Given the description of an element on the screen output the (x, y) to click on. 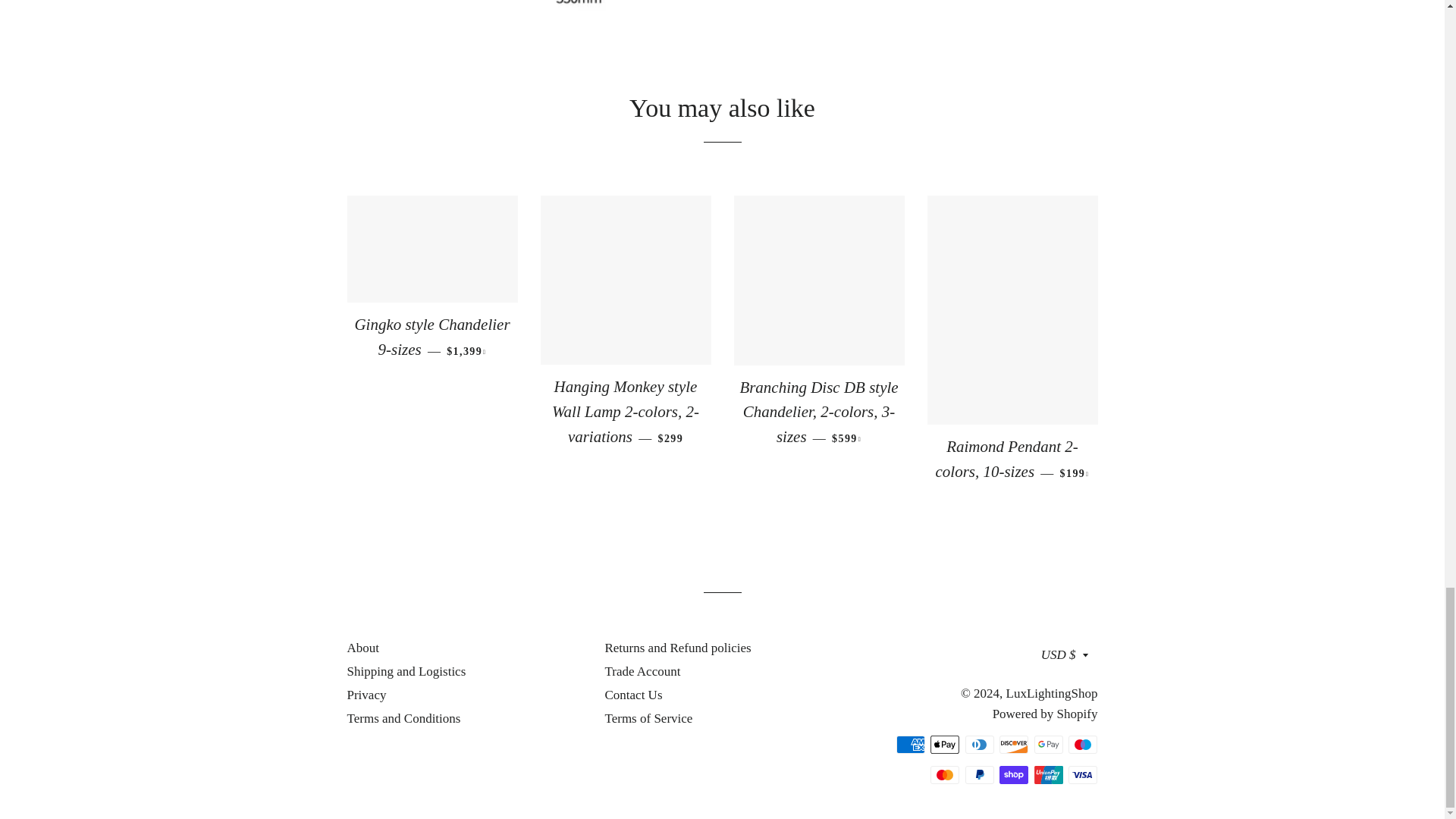
PayPal (979, 774)
Apple Pay (944, 744)
Visa (1082, 774)
Union Pay (1047, 774)
Diners Club (979, 744)
Maestro (1082, 744)
Mastercard (944, 774)
American Express (910, 744)
Discover (1012, 744)
Google Pay (1047, 744)
Shop Pay (1012, 774)
